Given the description of an element on the screen output the (x, y) to click on. 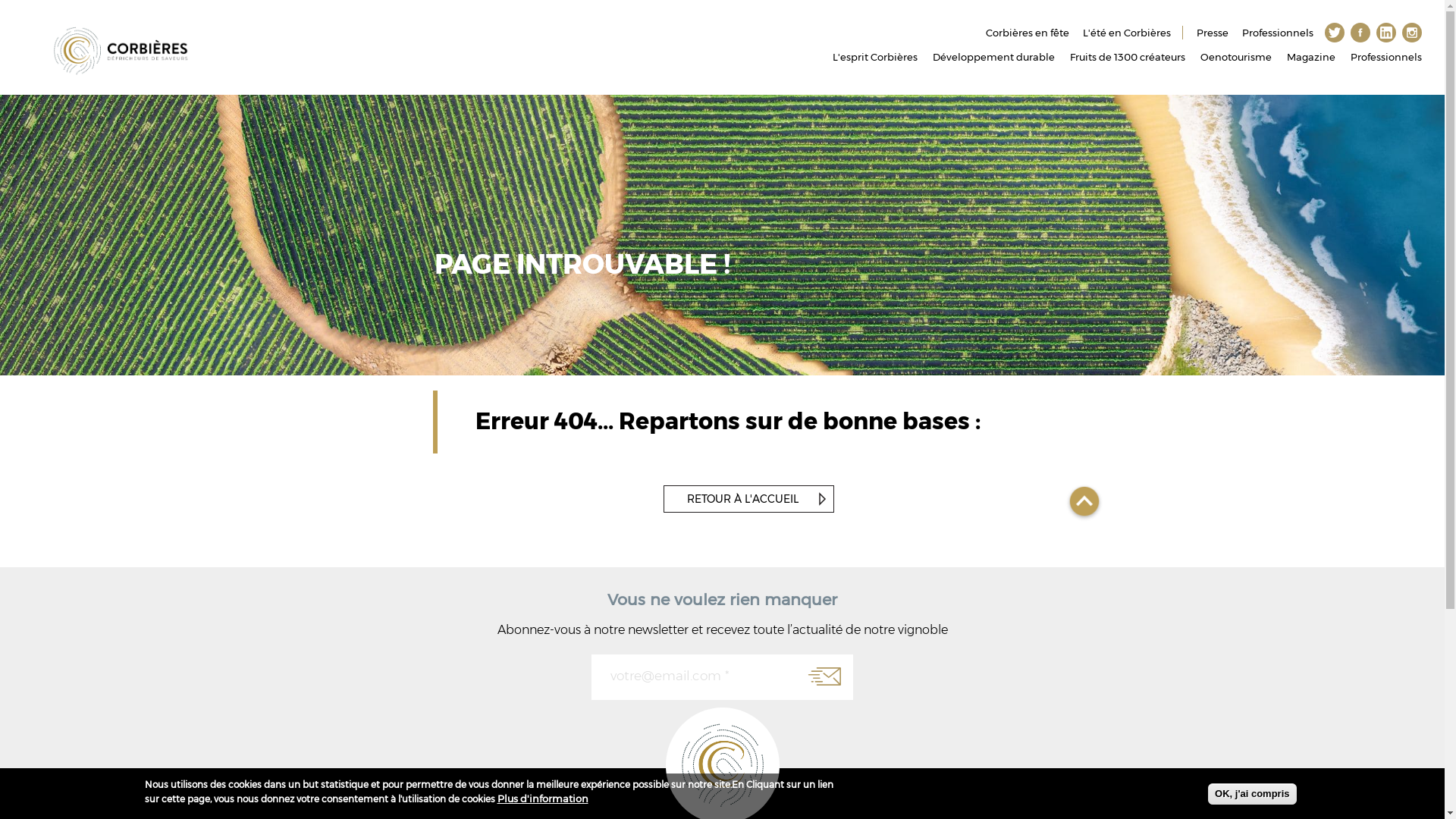
Oenotourisme Element type: text (1235, 57)
OK, j'ai compris Element type: text (1251, 794)
Plus d'information Element type: text (542, 798)
Presse Element type: text (1212, 32)
Professionnels Element type: text (1277, 32)
Magazine Element type: text (1310, 57)
Professionnels Element type: text (1385, 57)
Je m'inscris Element type: text (824, 676)
